Given the description of an element on the screen output the (x, y) to click on. 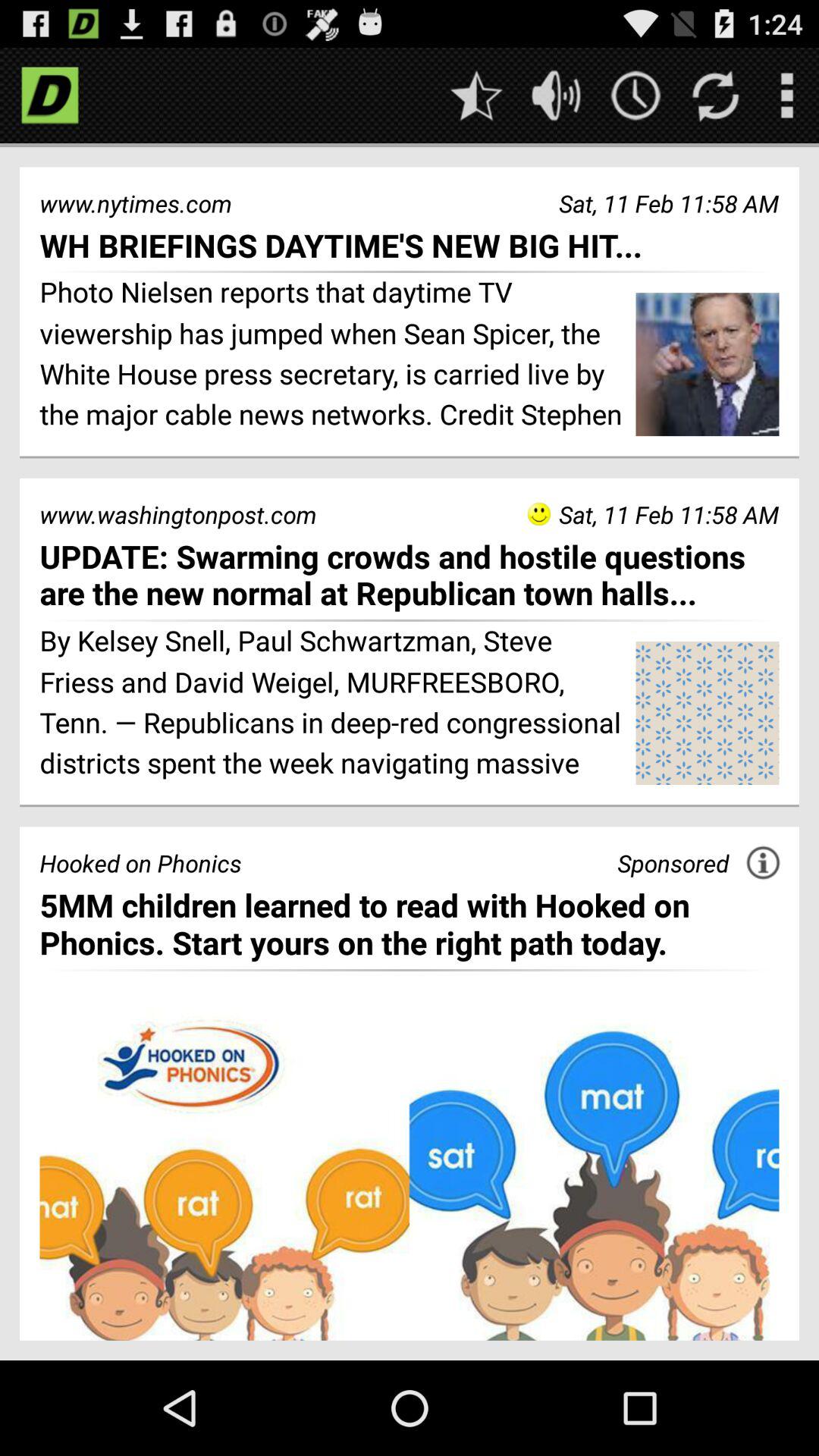
jump until update swarming crowds (409, 574)
